Given the description of an element on the screen output the (x, y) to click on. 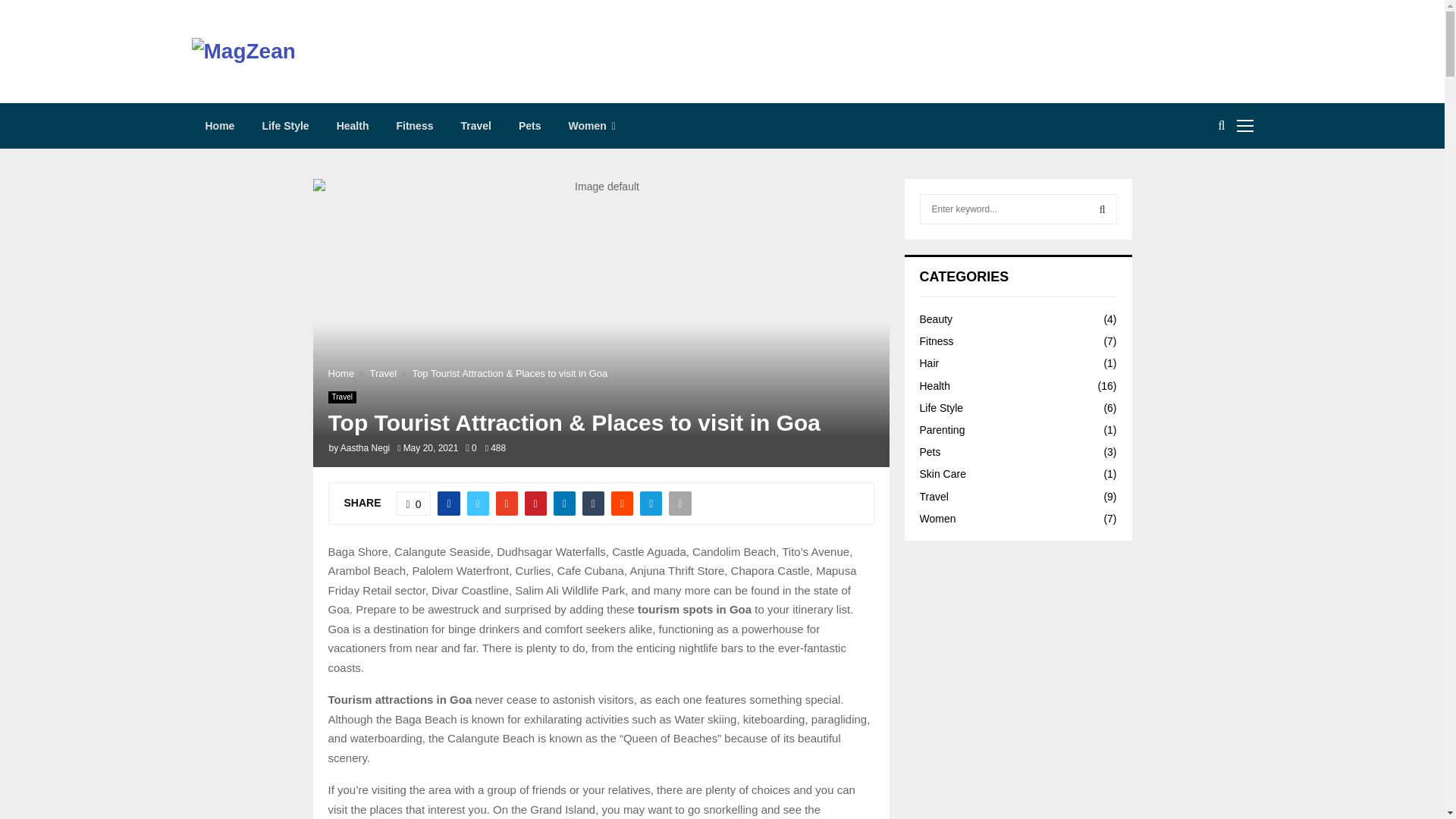
0 (413, 503)
Like (413, 503)
Home (340, 373)
Pets (529, 125)
Travel (474, 125)
Life Style (284, 125)
Travel (341, 397)
Home (218, 125)
Women (591, 125)
0 (470, 448)
